Given the description of an element on the screen output the (x, y) to click on. 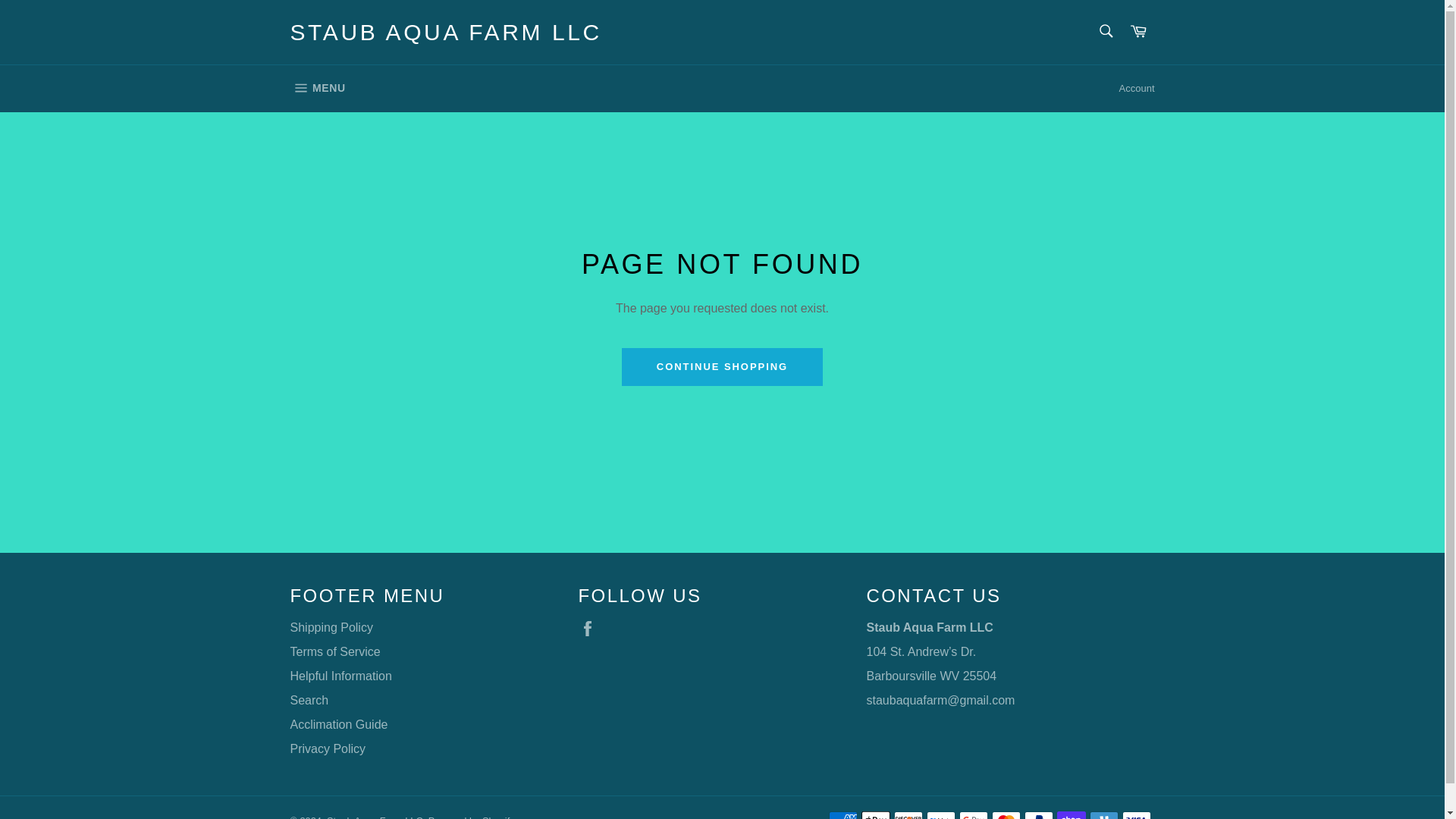
Staub Aqua Farm LLC on Facebook (591, 628)
Search (1104, 30)
STAUB AQUA FARM LLC (445, 31)
Account (1136, 88)
CONTINUE SHOPPING (317, 88)
Cart (721, 366)
